Given the description of an element on the screen output the (x, y) to click on. 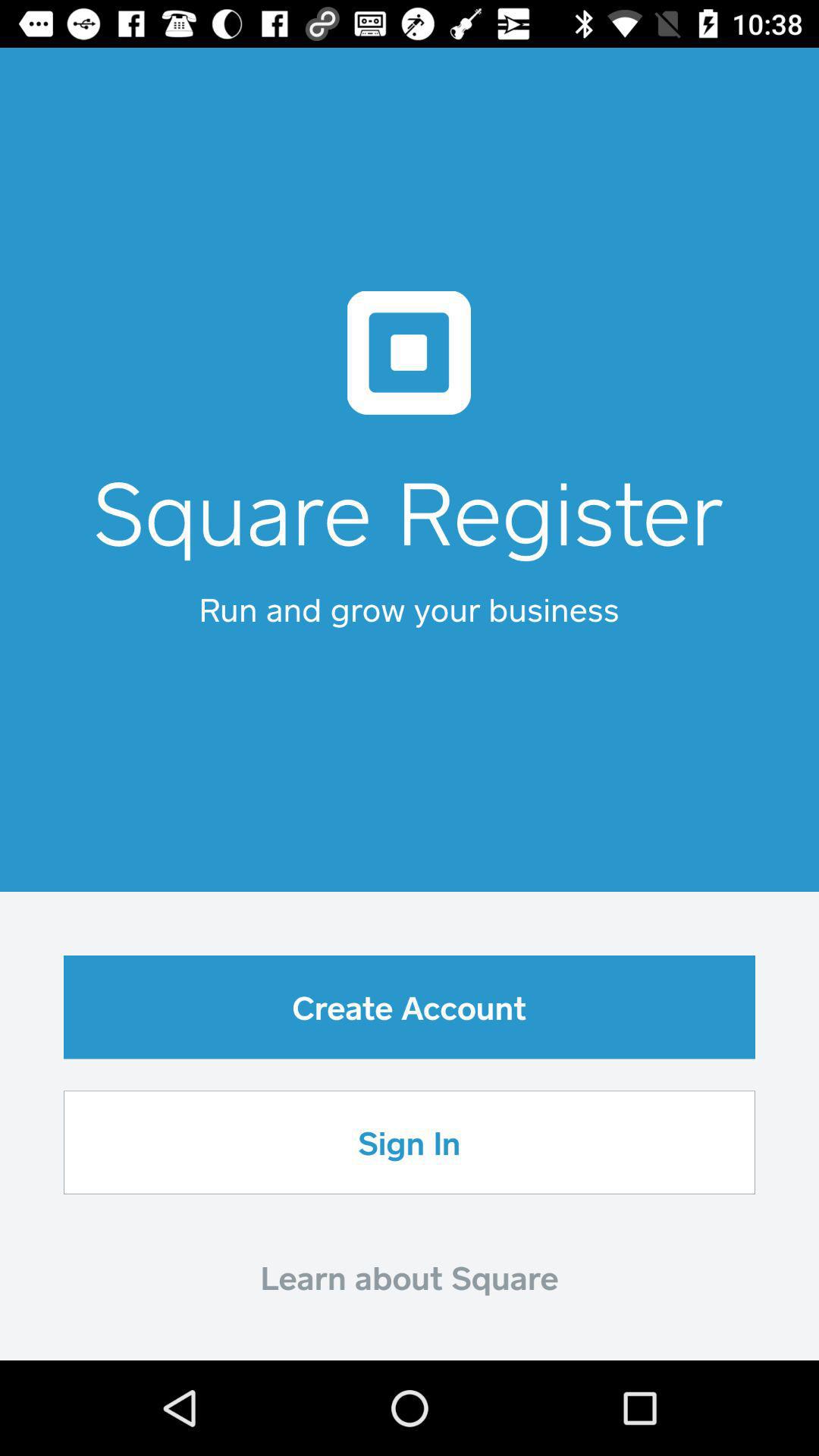
click the item below the run and grow icon (409, 1007)
